Given the description of an element on the screen output the (x, y) to click on. 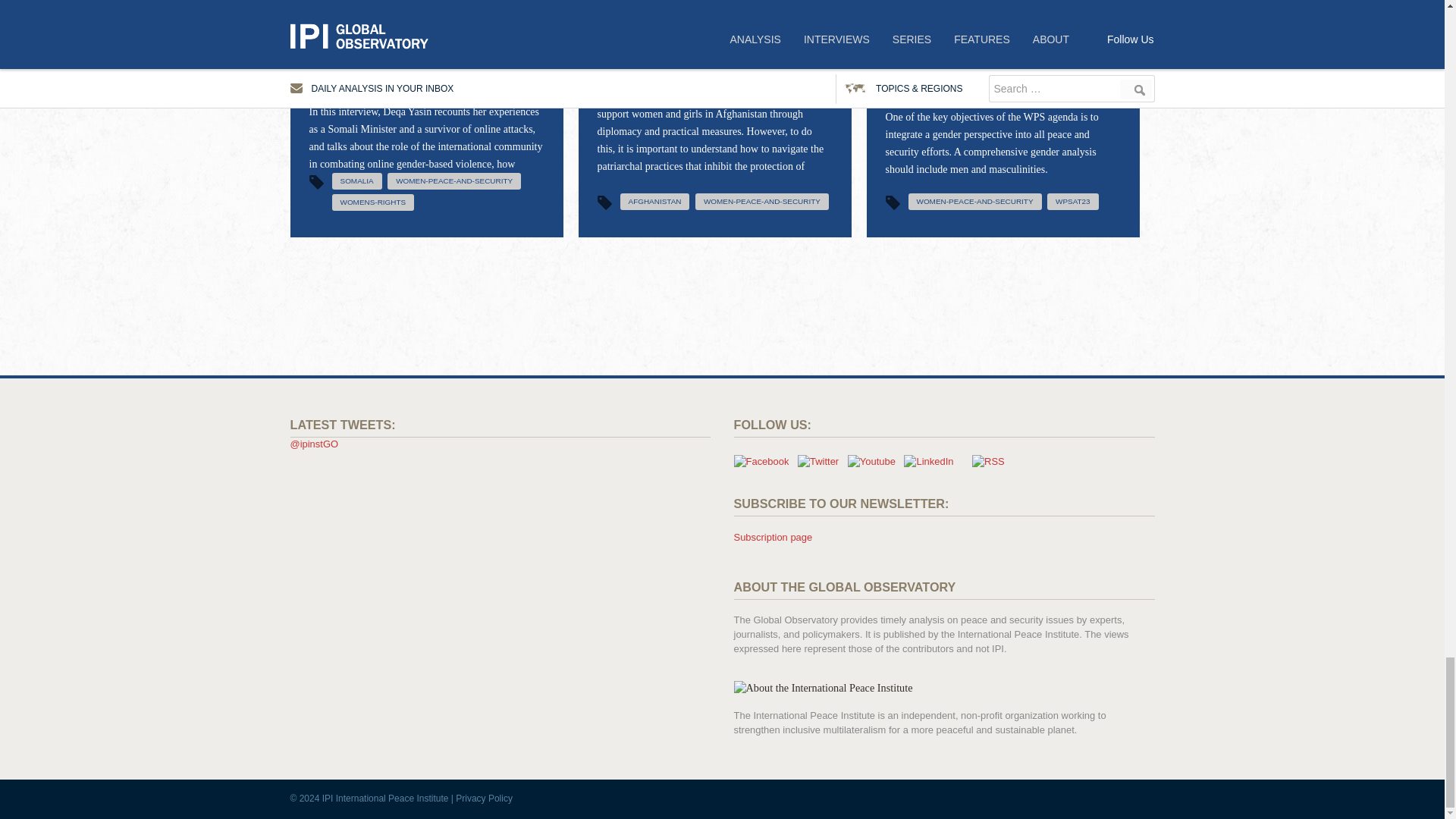
women peace and security (454, 180)
women peace and security (761, 201)
women peace and security (975, 201)
